Given the description of an element on the screen output the (x, y) to click on. 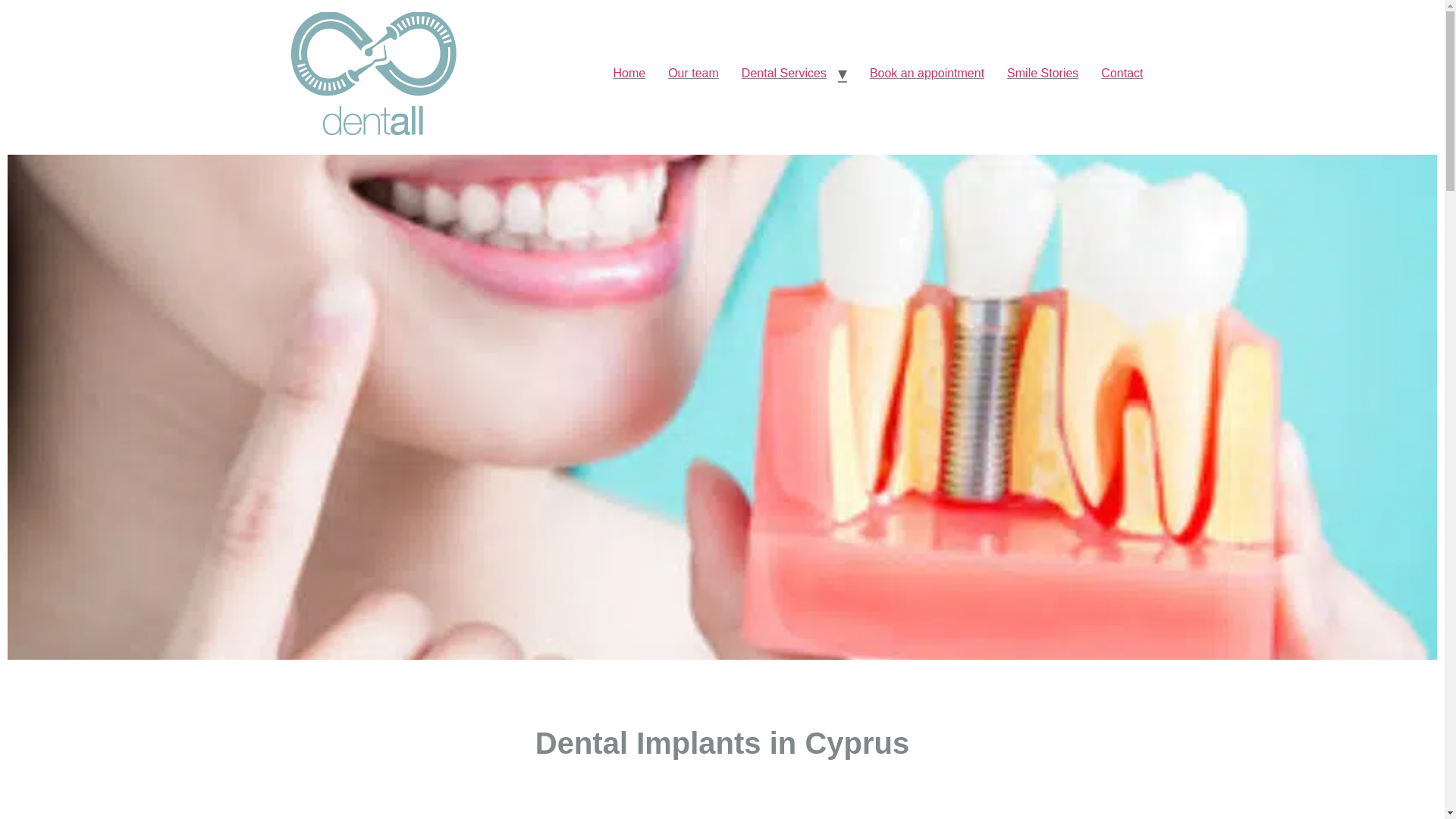
Contact (1121, 73)
Book an appointment (927, 73)
Our team (693, 73)
Dental Services (784, 73)
Smile Stories (1042, 73)
Home (628, 73)
